Given the description of an element on the screen output the (x, y) to click on. 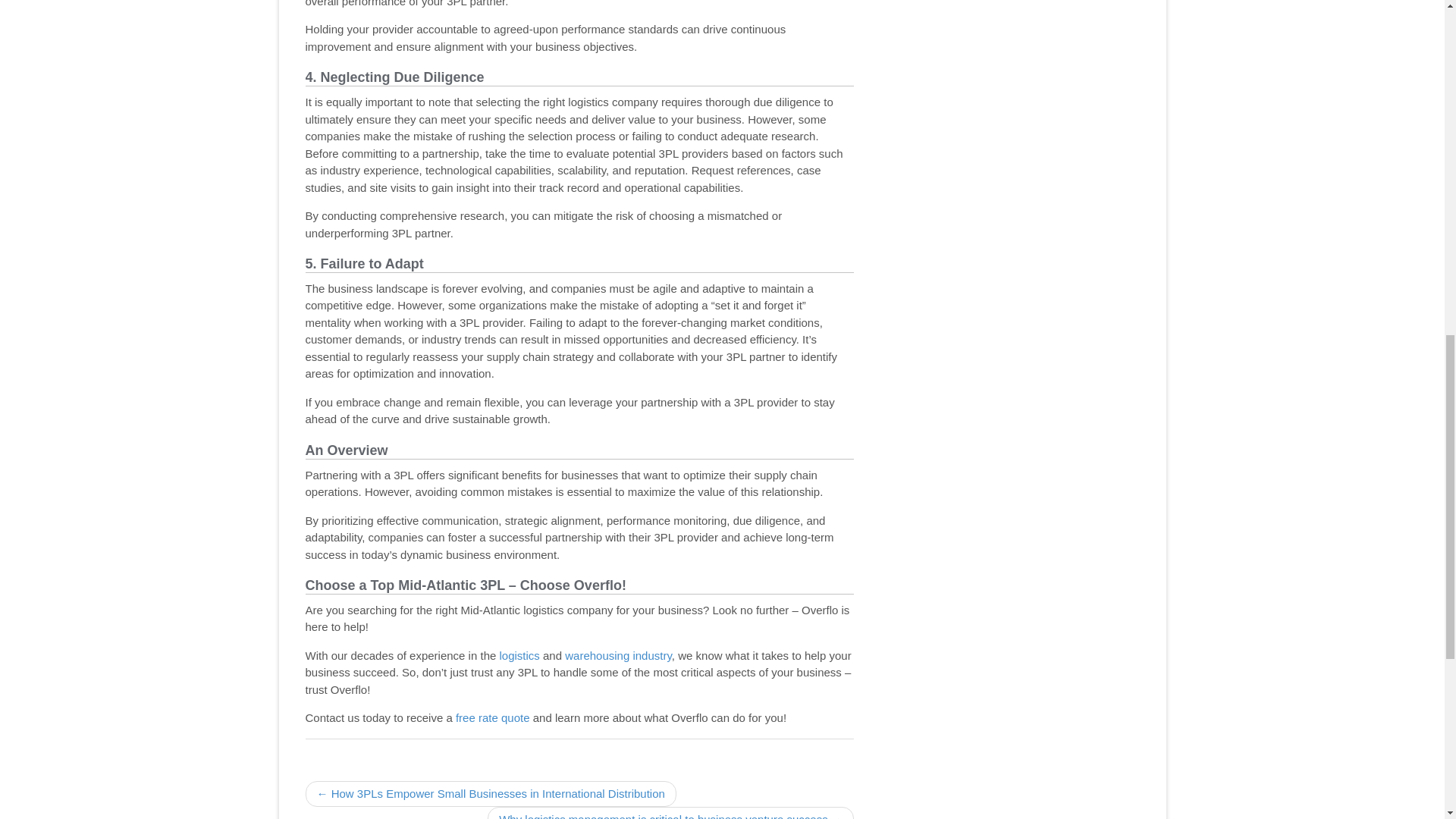
warehousing industry (617, 655)
logistics (518, 655)
free rate quote (492, 717)
